Given the description of an element on the screen output the (x, y) to click on. 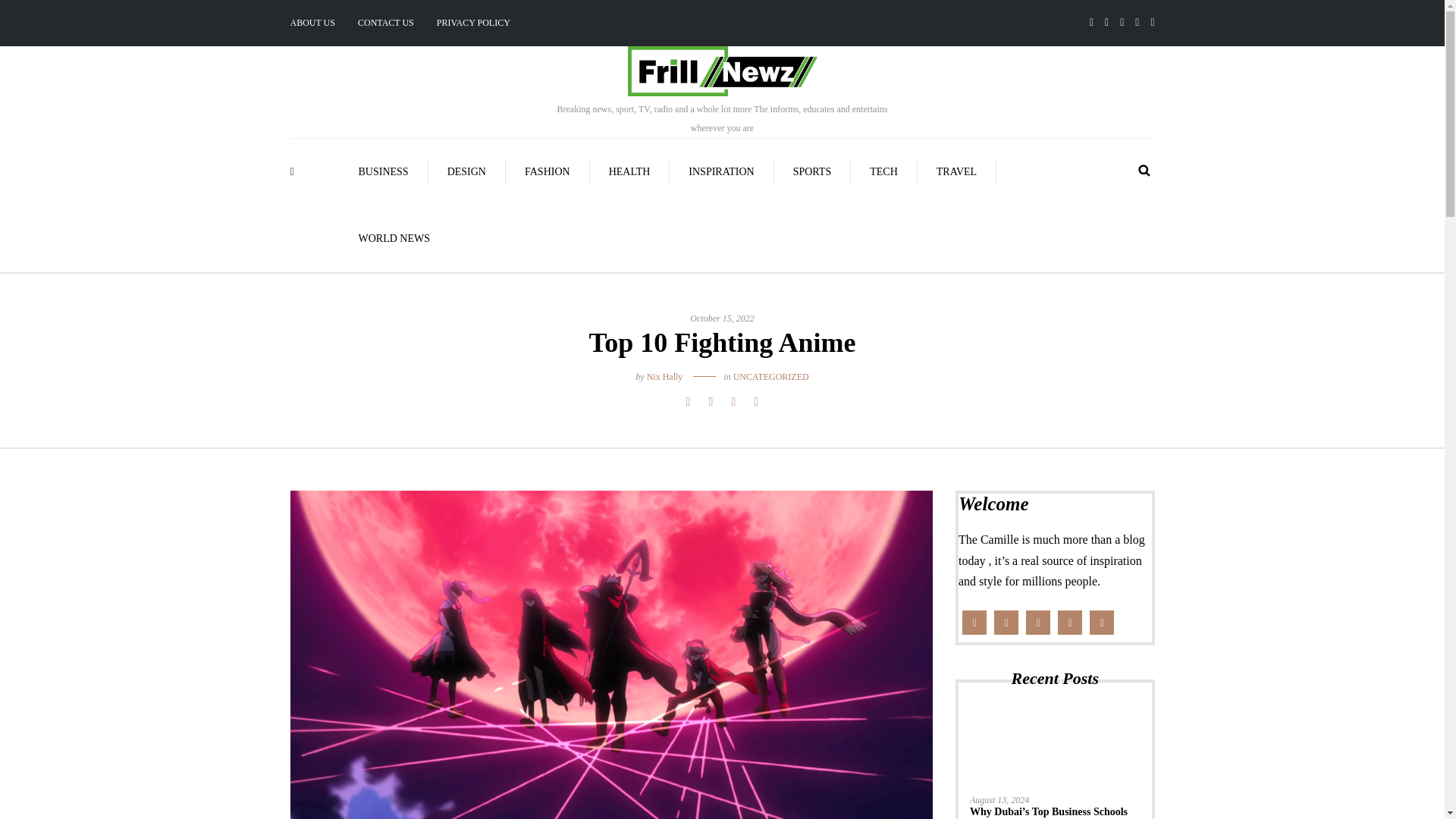
UNCATEGORIZED (771, 376)
WORLD NEWS (394, 238)
TRAVEL (956, 171)
PRIVACY POLICY (473, 22)
Share with Google Plus (733, 401)
INSPIRATION (721, 171)
Nix Hally (664, 376)
ABOUT US (317, 22)
BUSINESS (383, 171)
DESIGN (466, 171)
